Given the description of an element on the screen output the (x, y) to click on. 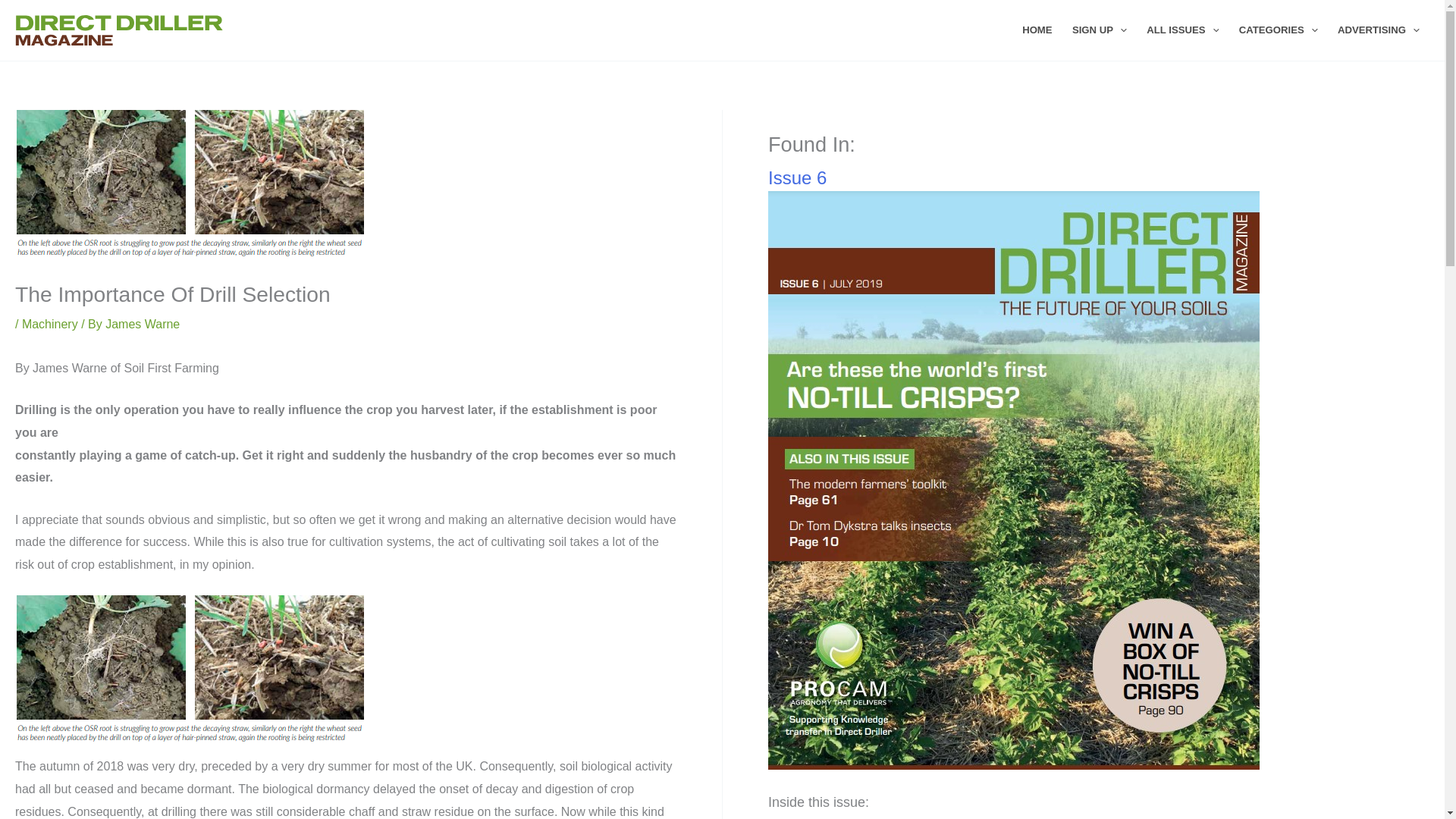
View all posts by James Warne (141, 323)
CATEGORIES (1277, 30)
ADVERTISING (1378, 30)
ALL ISSUES (1182, 30)
SIGN UP (1099, 30)
